Given the description of an element on the screen output the (x, y) to click on. 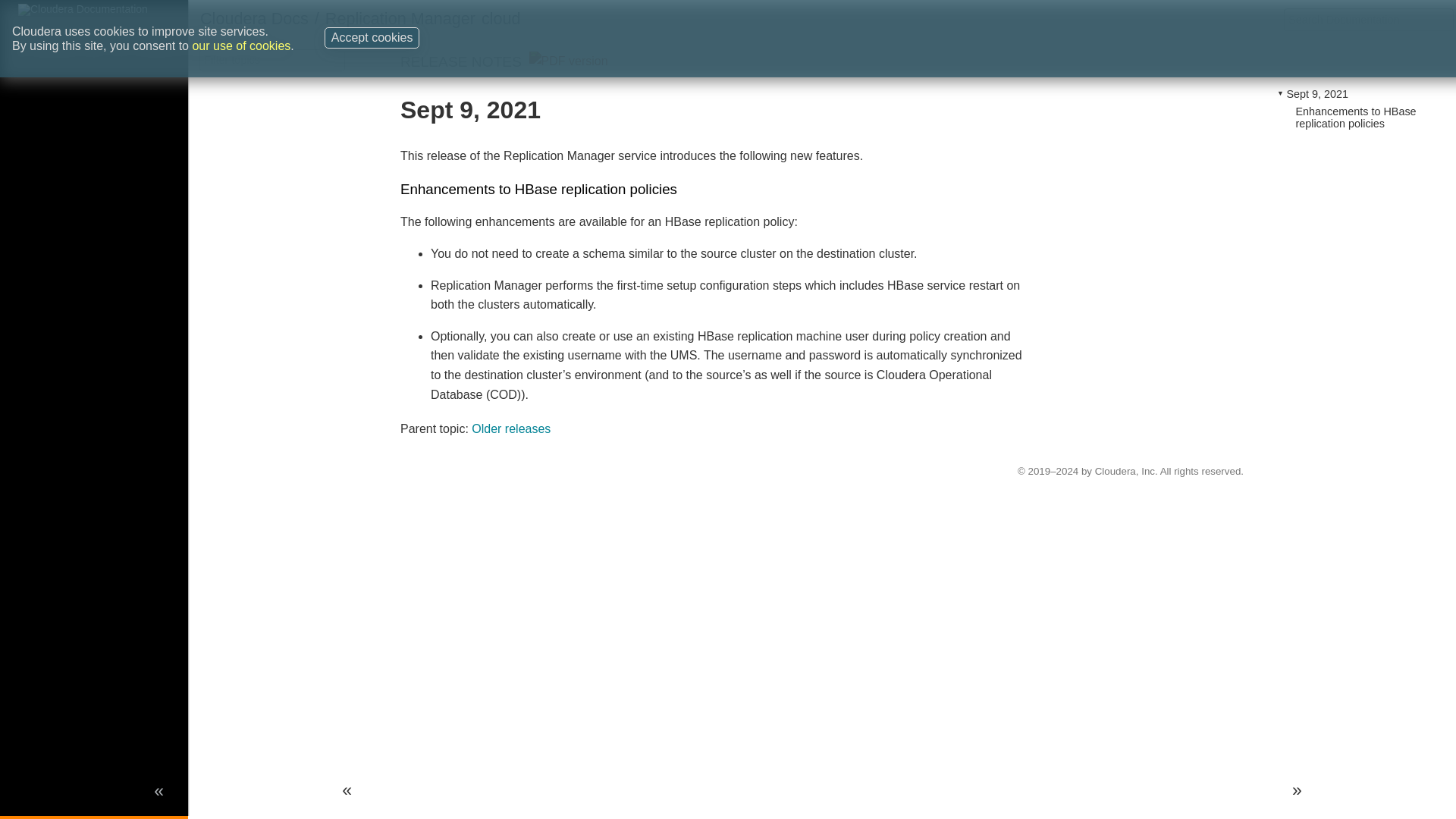
RELEASE NOTES (460, 61)
Sept 9, 2021 (1316, 93)
our use of cookies (240, 12)
Cloudera Docs (254, 18)
Older releases (510, 428)
Accept cookies (372, 9)
Replication Manager (400, 18)
Enhancements to HBase replication policies (1355, 117)
